Given the description of an element on the screen output the (x, y) to click on. 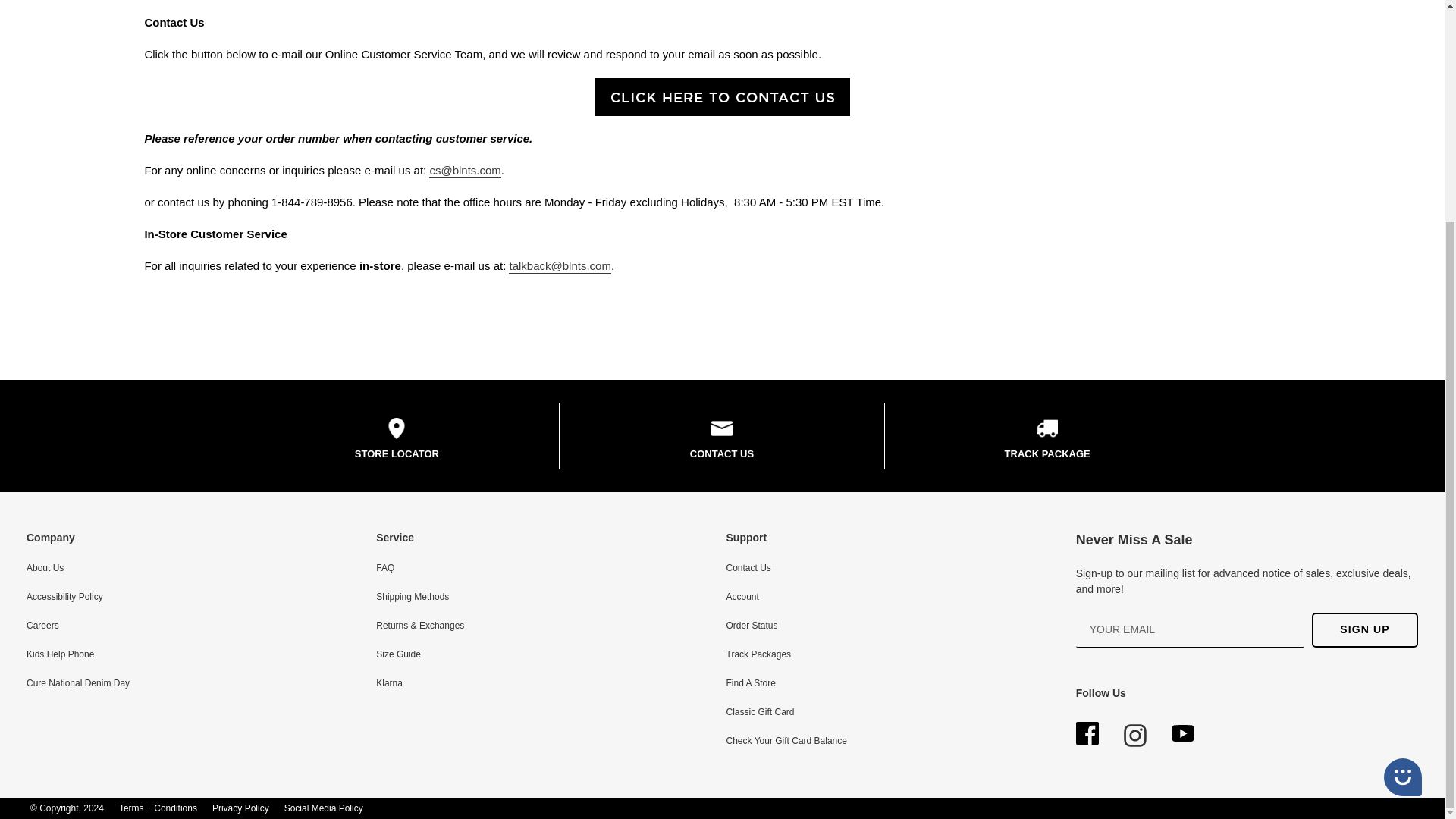
Contact Bluenotes Online Customer Support Team (722, 96)
